Given the description of an element on the screen output the (x, y) to click on. 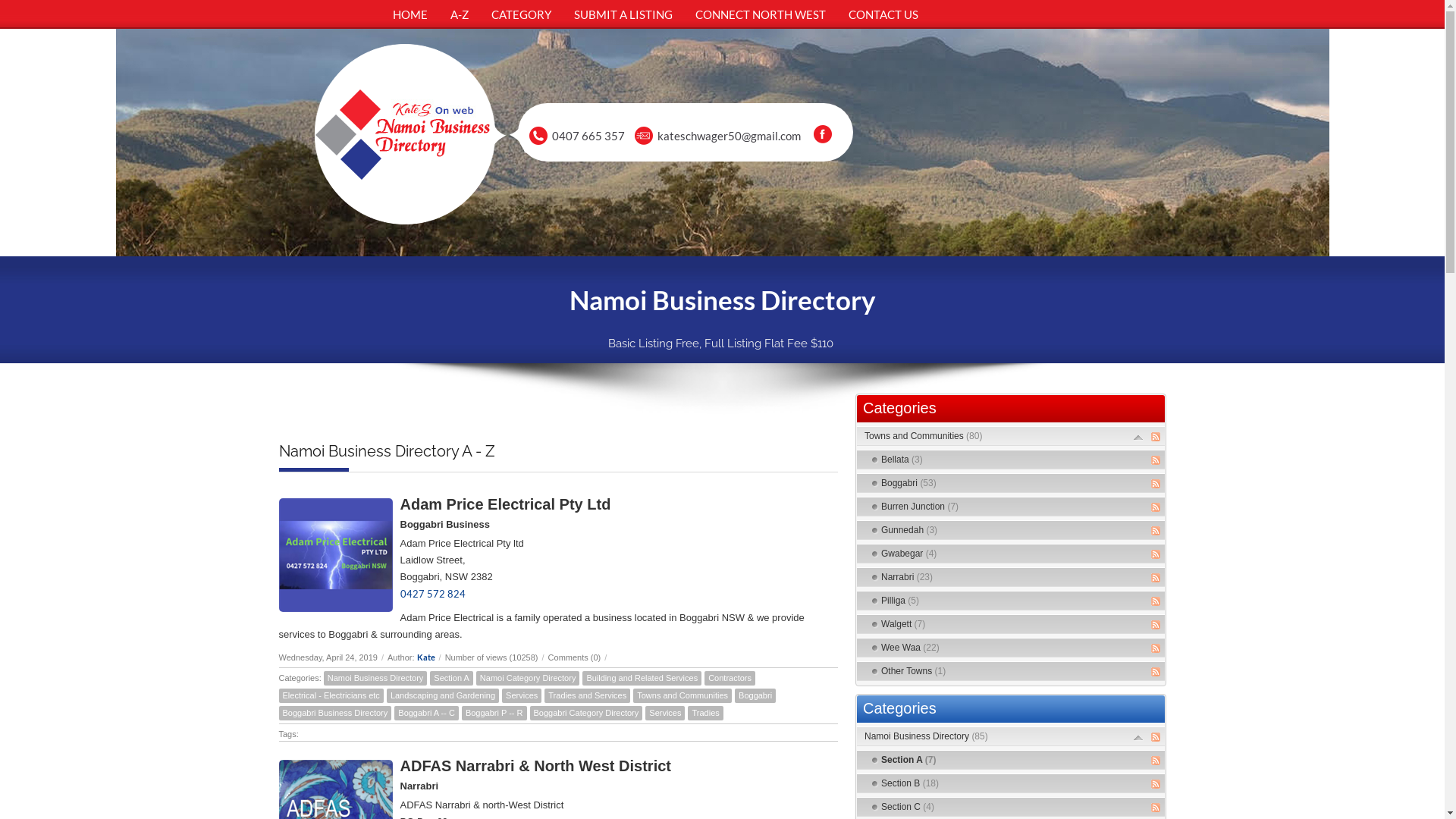
RSS Element type: text (1155, 647)
Tradies and Services Element type: text (587, 695)
RSS Element type: text (1155, 624)
Namoi Business Directory (85) Element type: text (926, 736)
RSS Element type: text (1155, 506)
Services Element type: text (664, 713)
Expand/Collapse Element type: text (1137, 437)
RSS Element type: text (1155, 530)
Boggabri Business Directory Element type: text (335, 713)
kateschwager50@gmail.com Element type: text (728, 135)
Gunnedah (3) Element type: text (909, 529)
Other Towns (1) Element type: text (913, 670)
Building and Related Services Element type: text (641, 678)
Boggabri P -- R Element type: text (494, 713)
Boggabri Category Directory Element type: text (585, 713)
Boggabri Element type: text (754, 695)
Namoi Category Directory Element type: text (528, 678)
Boggabri A -- C Element type: text (426, 713)
Landscaping and Gardening Element type: text (442, 695)
RSS Element type: text (1155, 459)
Boggabri (53) Element type: text (908, 482)
RSS Element type: text (1155, 671)
RSS Element type: text (1155, 783)
Tradies Element type: text (704, 713)
Section C (4) Element type: text (907, 806)
Expand/Collapse Element type: text (1137, 737)
Burren Junction (7) Element type: text (919, 506)
Facebook Element type: hover (822, 134)
Section A Element type: text (450, 678)
Namoi Business Directory Element type: text (375, 678)
0407 665 357 Element type: text (588, 135)
RSS Element type: text (1155, 577)
Towns and Communities (80) Element type: text (923, 435)
Kate Element type: text (426, 657)
HOME Element type: text (409, 14)
Wee Waa (22) Element type: text (910, 647)
Towns and Communities Element type: text (682, 695)
Contractors Element type: text (729, 678)
RSS Element type: text (1155, 436)
Bellata (3) Element type: text (901, 459)
Pilliga (5) Element type: text (900, 600)
RSS Element type: text (1155, 553)
SUBMIT A LISTING Element type: text (623, 14)
RSS Element type: text (1155, 760)
0427 572 824 Element type: text (432, 593)
Walgett (7) Element type: text (903, 623)
CONNECT NORTH WEST Element type: text (760, 14)
Narrabri (23) Element type: text (906, 576)
CATEGORY Element type: text (520, 14)
ADFAS Narrabri & North West District Element type: text (535, 765)
A-Z Element type: text (458, 14)
Adam Price Electrical Pty Ltd Element type: text (505, 503)
RSS Element type: text (1155, 483)
Section A (7) Element type: text (908, 759)
CONTACT US Element type: text (883, 14)
RSS Element type: text (1155, 600)
Services Element type: text (521, 695)
Electrical - Electricians etc Element type: text (331, 695)
Gwabegar (4) Element type: text (908, 553)
RSS Element type: text (1155, 736)
RSS Element type: text (1155, 807)
Section B (18) Element type: text (909, 783)
